Given the description of an element on the screen output the (x, y) to click on. 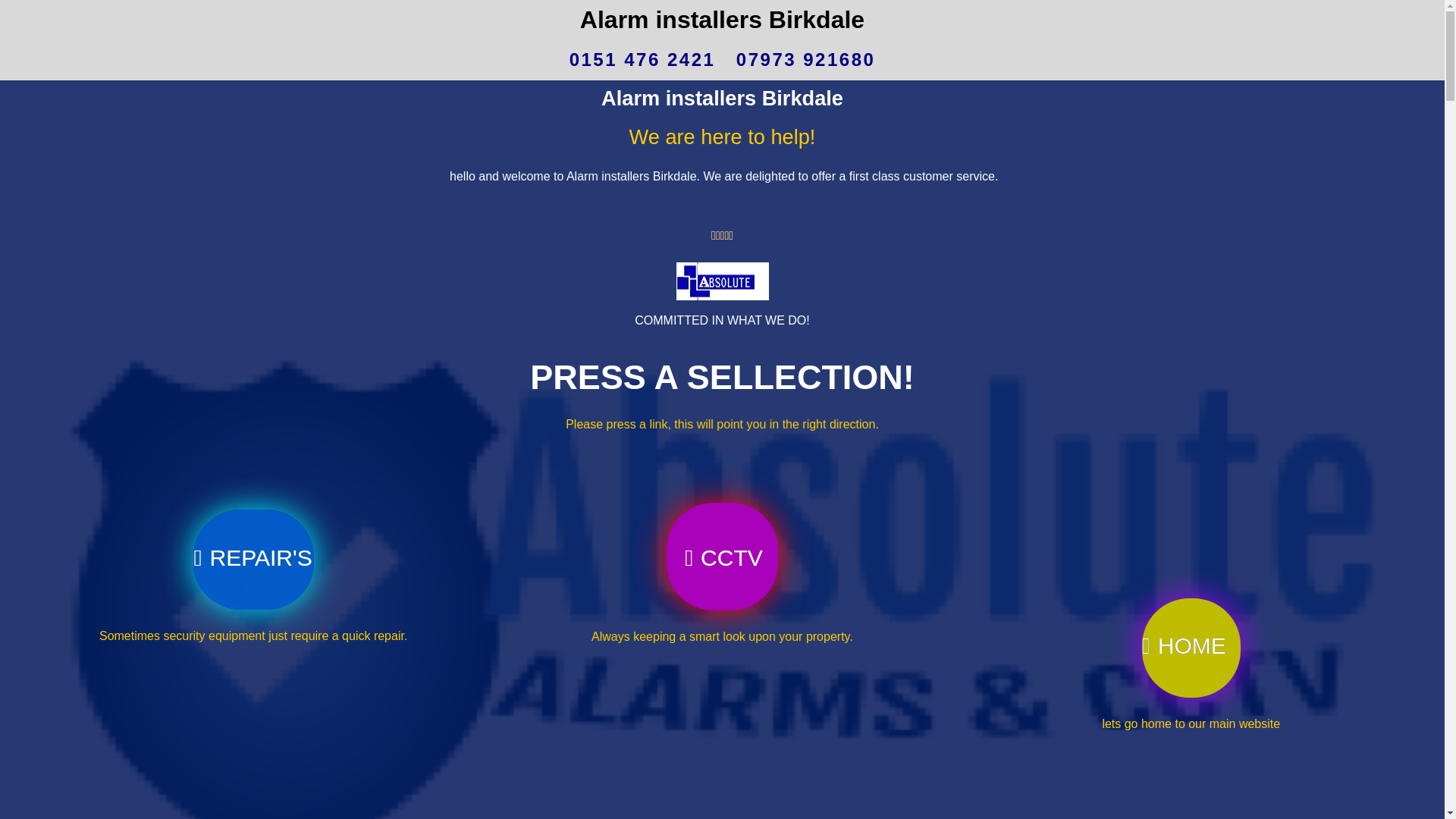
CCTV (721, 476)
REPAIR'S (253, 474)
HOME (1190, 586)
